Given the description of an element on the screen output the (x, y) to click on. 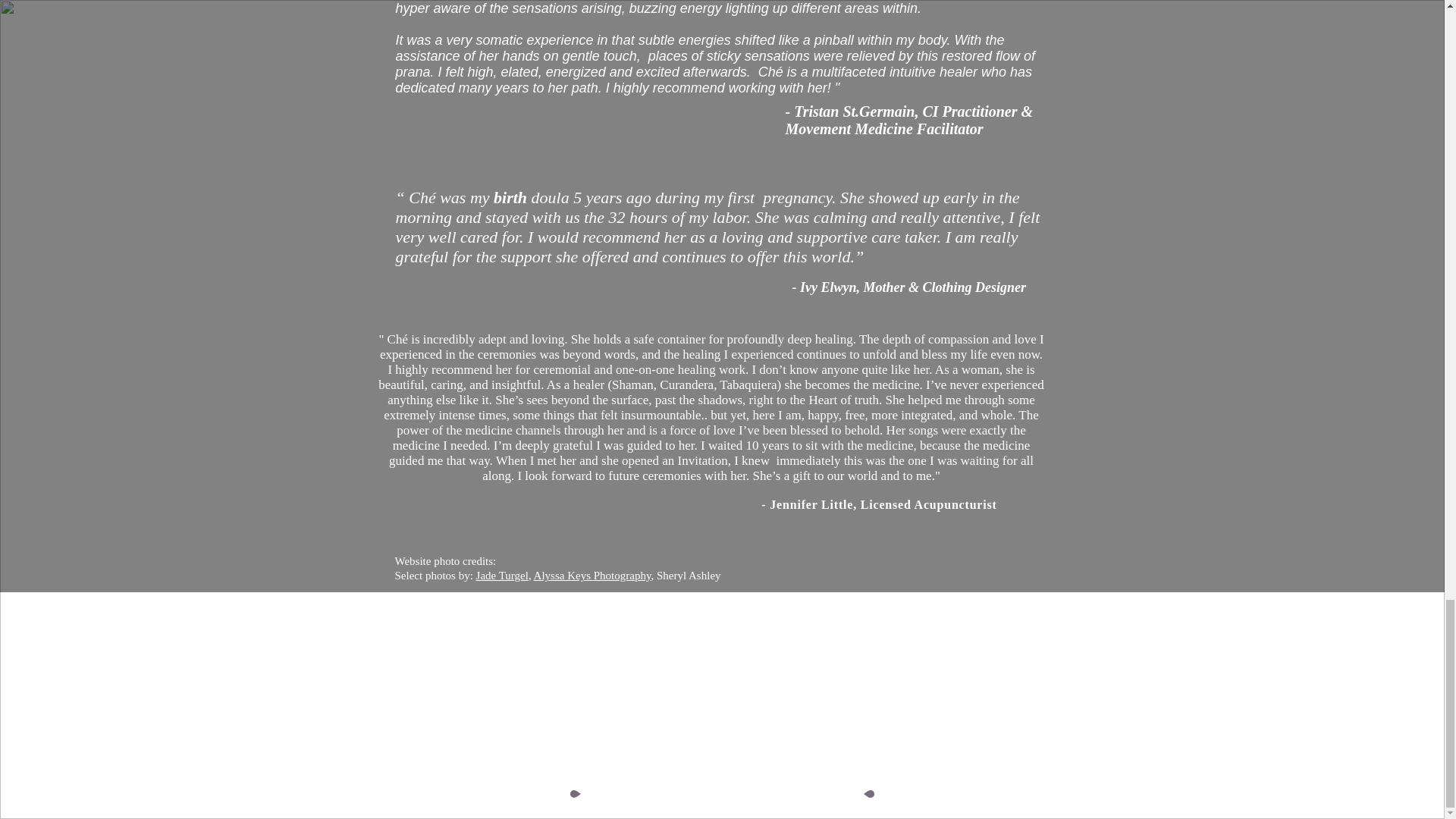
Privacy Policy (983, 769)
Disclaimer (970, 746)
Alyssa Keys Photography (592, 575)
Jade Turgel (502, 575)
